Given the description of an element on the screen output the (x, y) to click on. 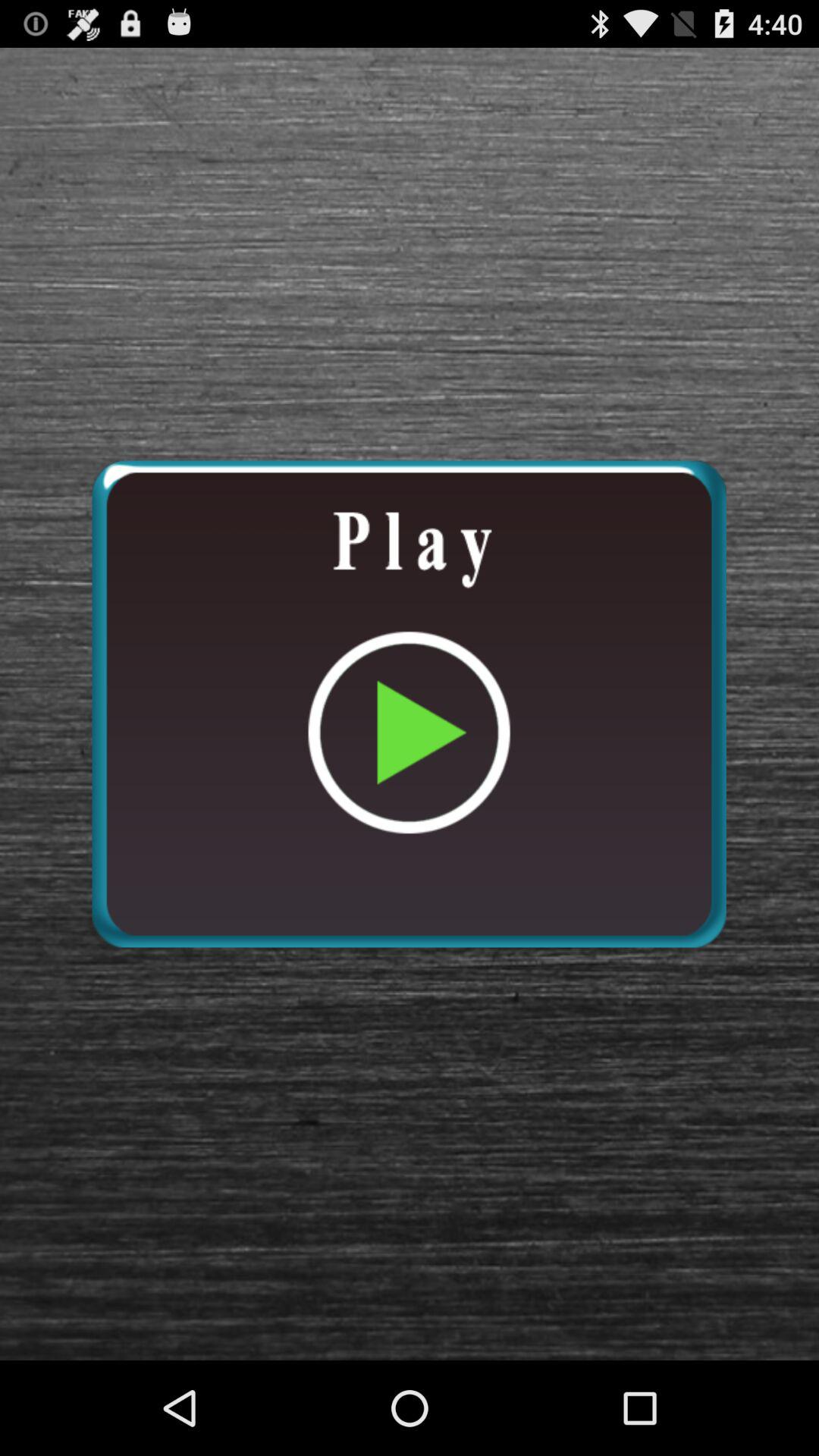
play option (409, 703)
